Given the description of an element on the screen output the (x, y) to click on. 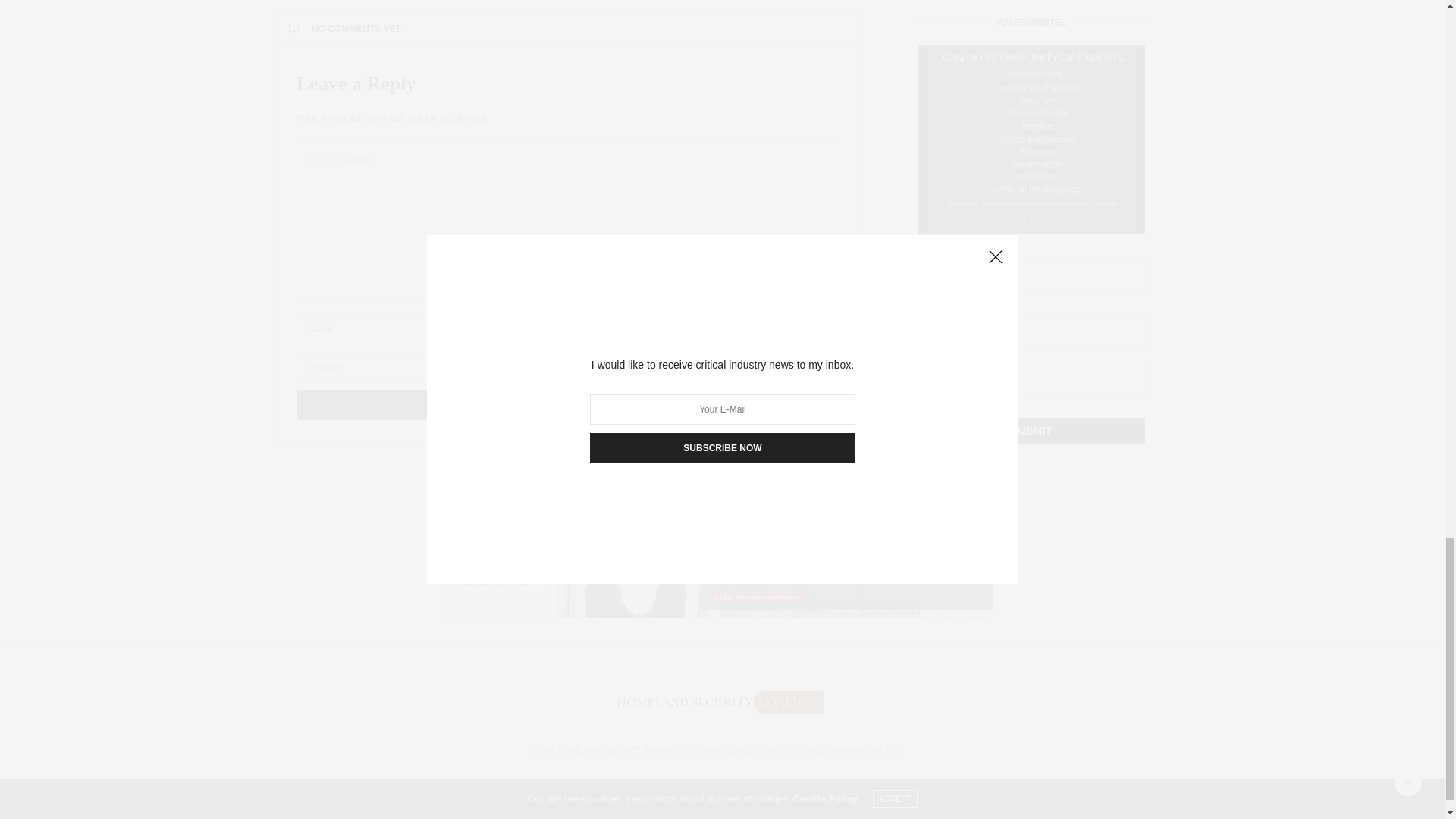
Submit Comment (564, 404)
Submit Comment (564, 404)
NO COMMENTS YET (564, 28)
